Given the description of an element on the screen output the (x, y) to click on. 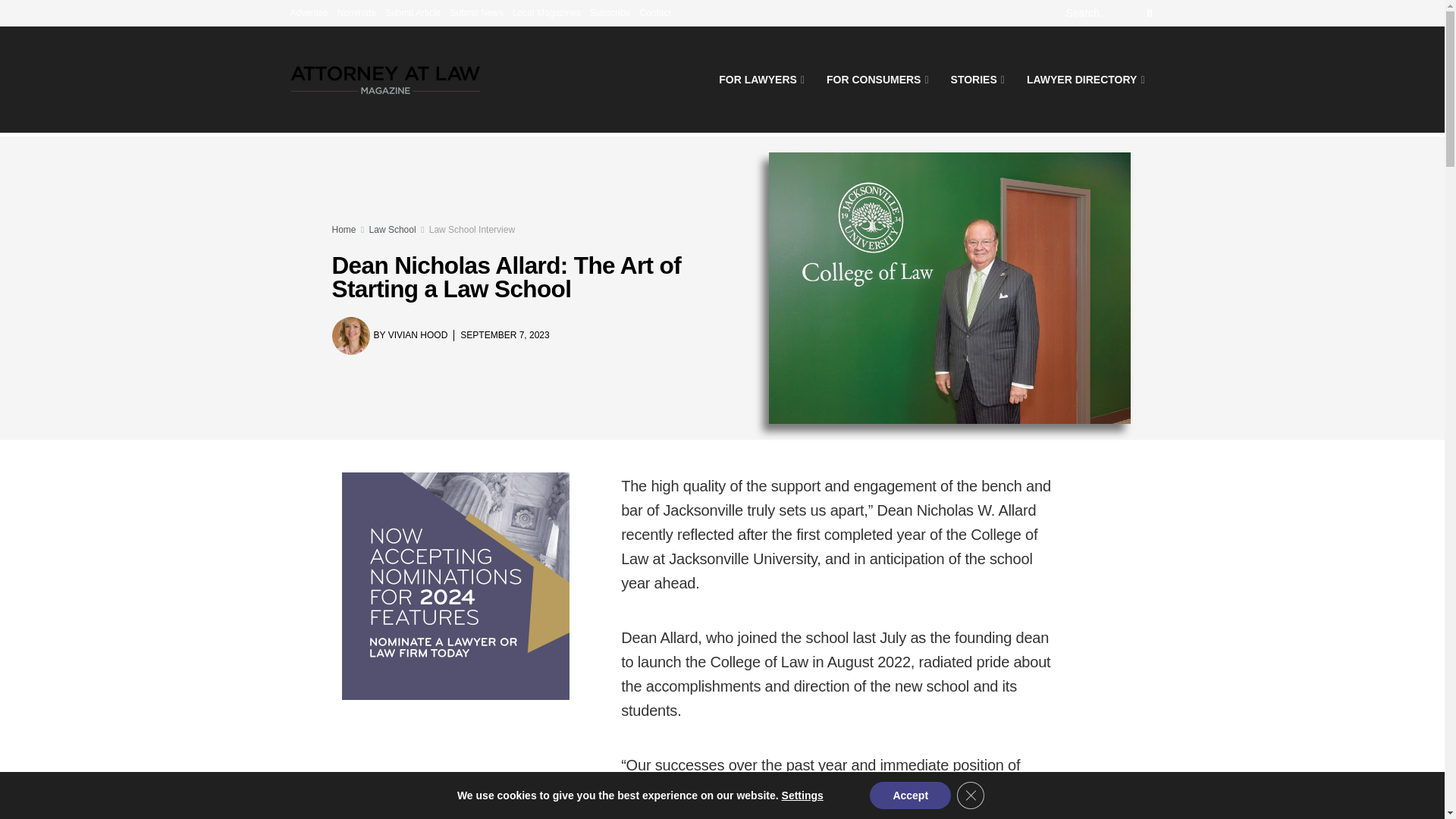
STORIES (976, 79)
FOR LAWYERS (759, 79)
Contact (654, 12)
Nominate (356, 12)
Subscribe (609, 12)
Local Magazines (546, 12)
Submit News (476, 12)
FOR CONSUMERS (876, 79)
Submit Article (413, 12)
Advertise (308, 12)
